Given the description of an element on the screen output the (x, y) to click on. 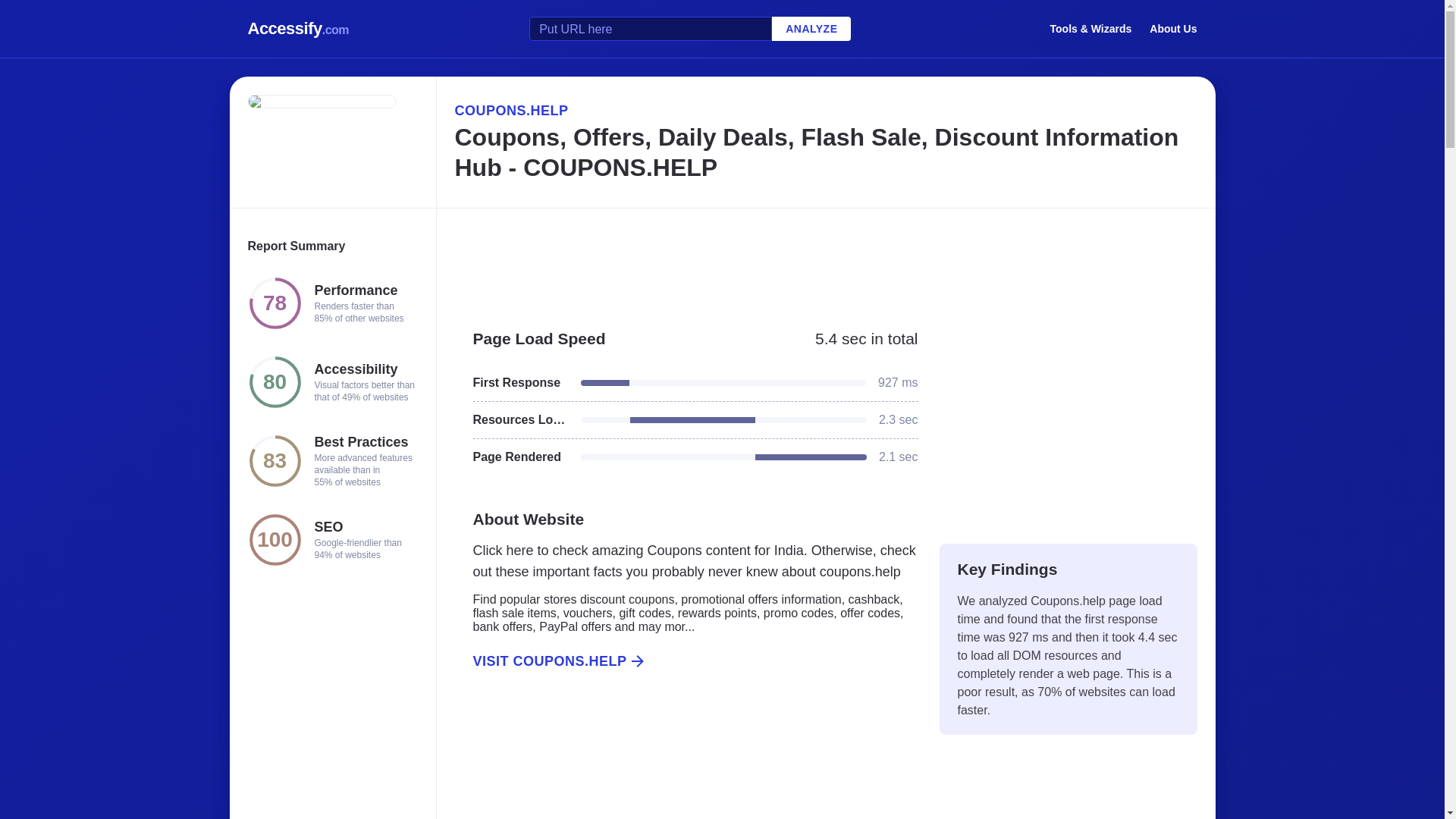
Accessify.com (298, 28)
COUPONS.HELP (825, 110)
VISIT COUPONS.HELP (686, 660)
About Us (1173, 28)
ANALYZE (810, 28)
